Given the description of an element on the screen output the (x, y) to click on. 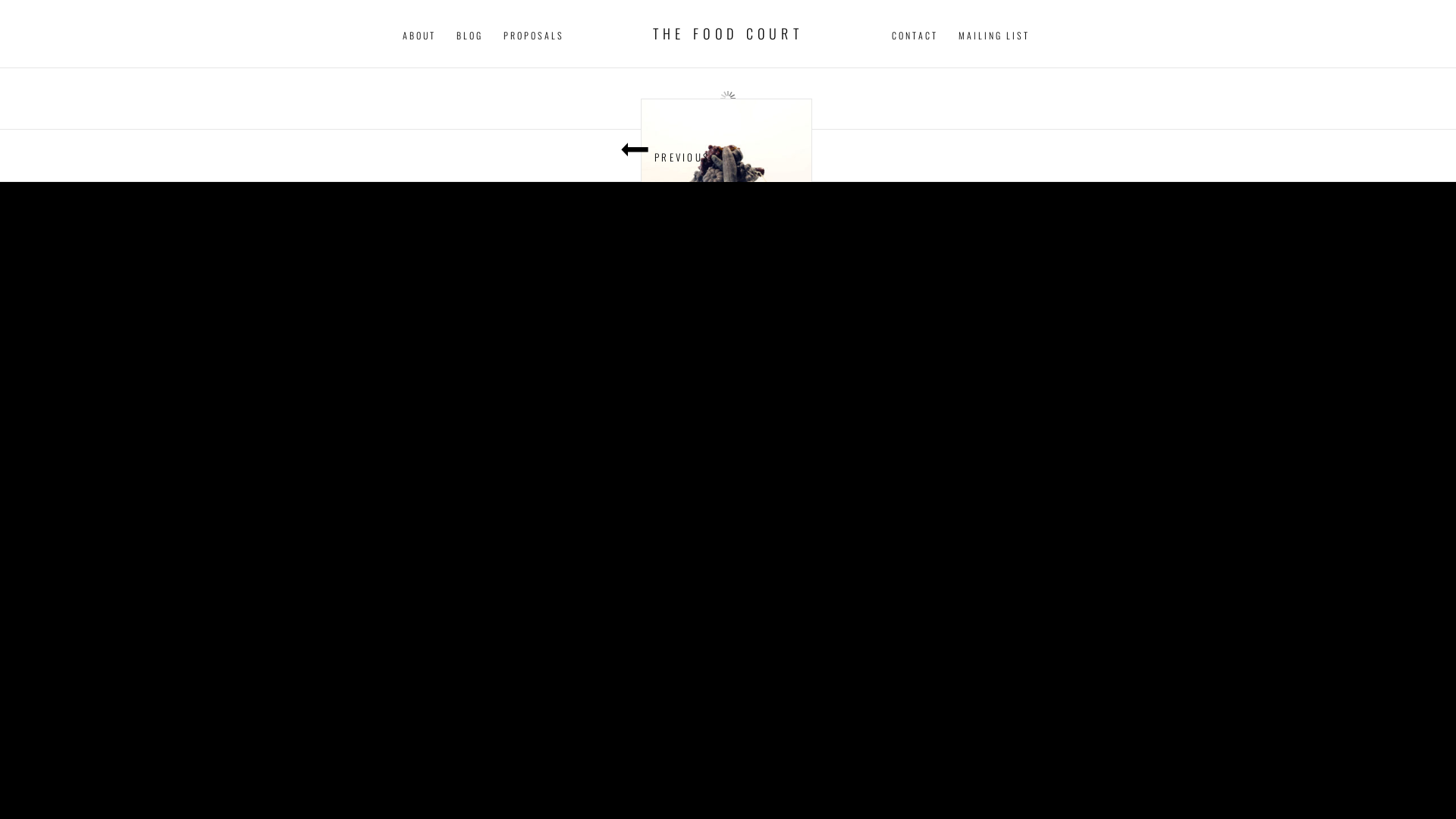
View Mutt exhibition Callum Jackson Element type: hover (726, 212)
View The Food Court Artist in Residencies 2015 Element type: hover (726, 142)
PROPOSALS Element type: text (533, 35)
View Boot Camp: The Race Element type: hover (726, 146)
View Colour Box Studio: Throw Up Your Art Element type: hover (726, 147)
Passing Through Element type: hover (726, 149)
View Mapping Melbourne: From Spaces Past Element type: hover (726, 162)
CONTACT Element type: text (914, 35)
SKIP TO CONTENT Element type: text (927, 35)
LUMINAIRE Element type: hover (726, 198)
BLOG Element type: text (469, 35)
View Overgrown Element type: hover (726, 133)
Uncategorized Element type: text (726, 117)
THE FOOD COURT Element type: text (727, 32)
Uncategorized Element type: text (726, 185)
PREVIOUS Element type: text (364, 155)
ABOUT Element type: text (418, 35)
SKIP TO CONTENT Element type: text (54, 35)
View Food Court Artist in Residencies 2015 Element type: hover (726, 212)
MAILING LIST Element type: text (993, 35)
